Given the description of an element on the screen output the (x, y) to click on. 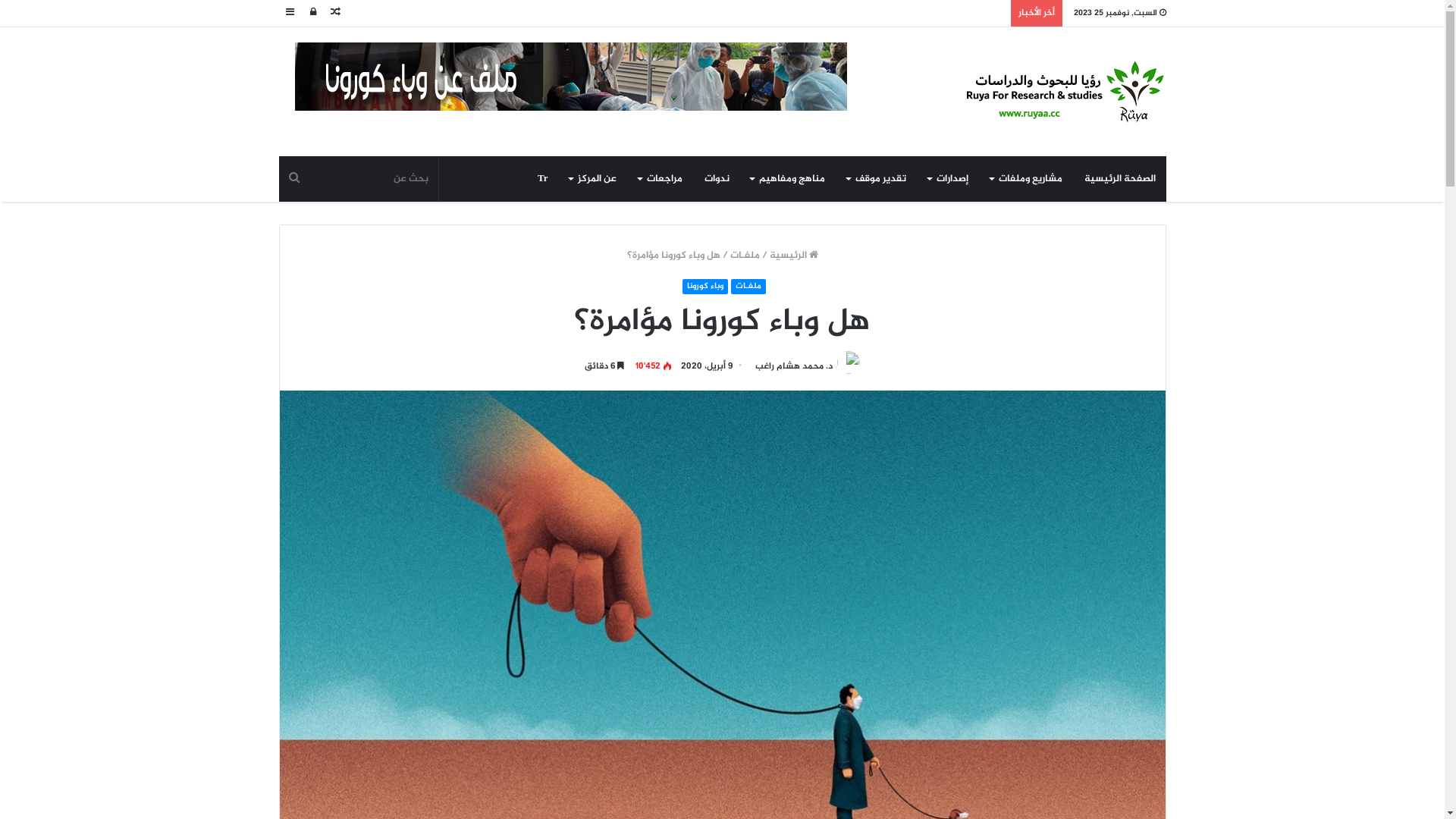
Tr Element type: text (542, 178)
